Given the description of an element on the screen output the (x, y) to click on. 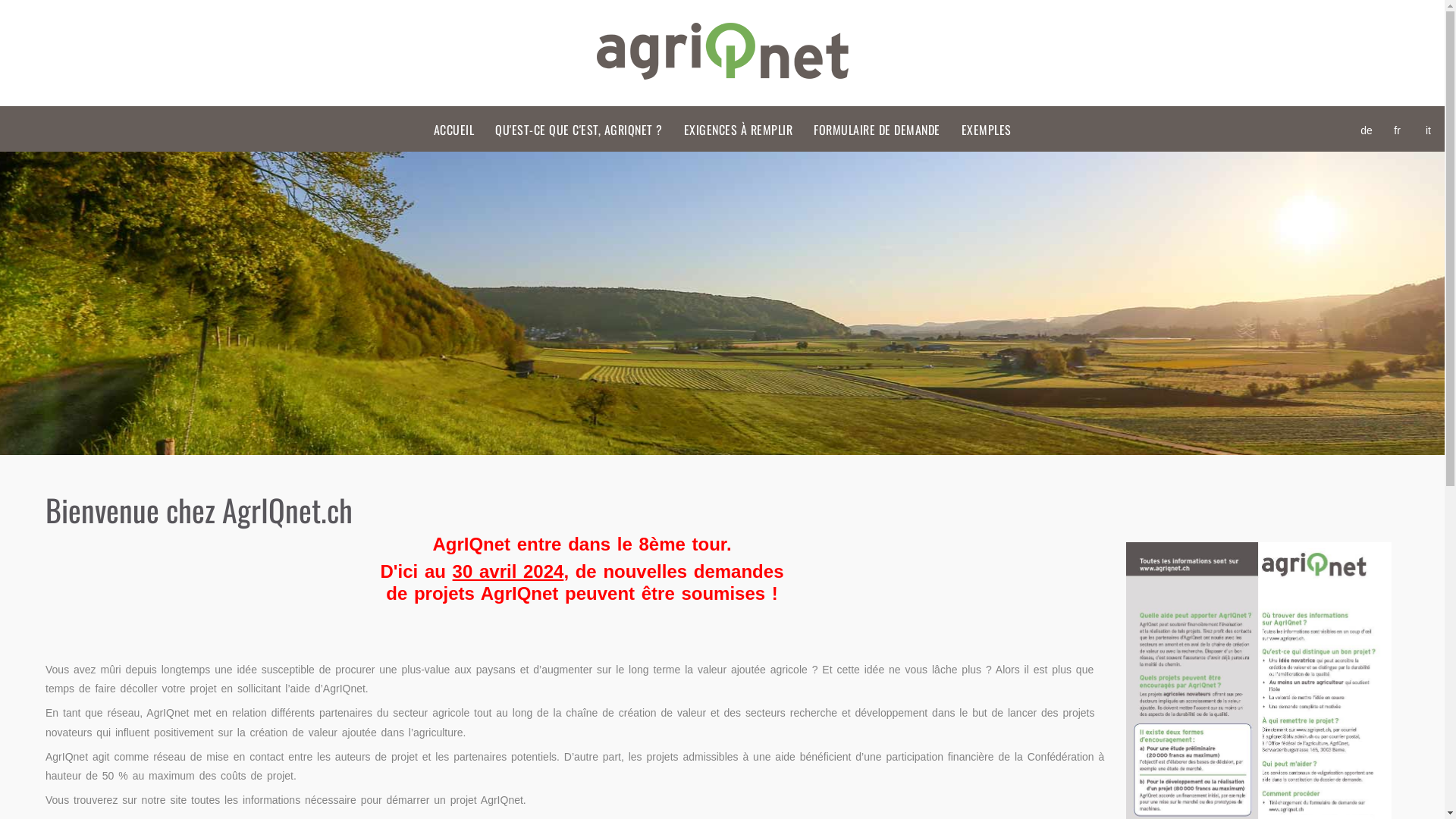
FORMULAIRE DE DEMANDE Element type: text (876, 129)
de Element type: text (1365, 132)
EXEMPLES Element type: text (986, 129)
fr Element type: text (1396, 132)
ACCUEIL Element type: text (454, 129)
it Element type: text (1428, 132)
QU'EST-CE QUE C'EST, AGRIQNET ? Element type: text (578, 129)
